Given the description of an element on the screen output the (x, y) to click on. 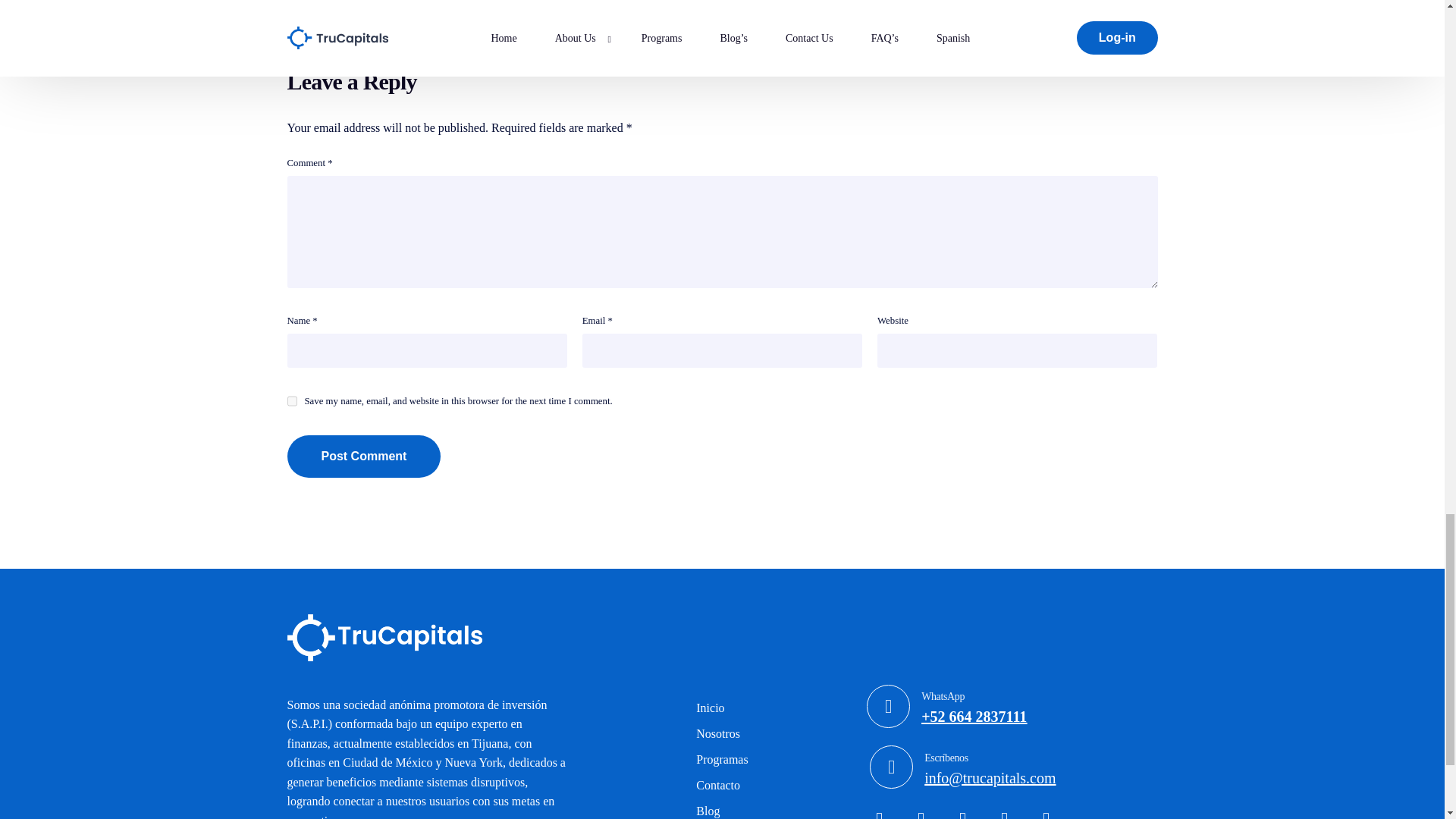
Inicio (721, 708)
Blog (721, 808)
Contacto (721, 785)
Programas (721, 759)
Post Comment (721, 757)
Nosotros (363, 455)
Post Comment (721, 733)
